Given the description of an element on the screen output the (x, y) to click on. 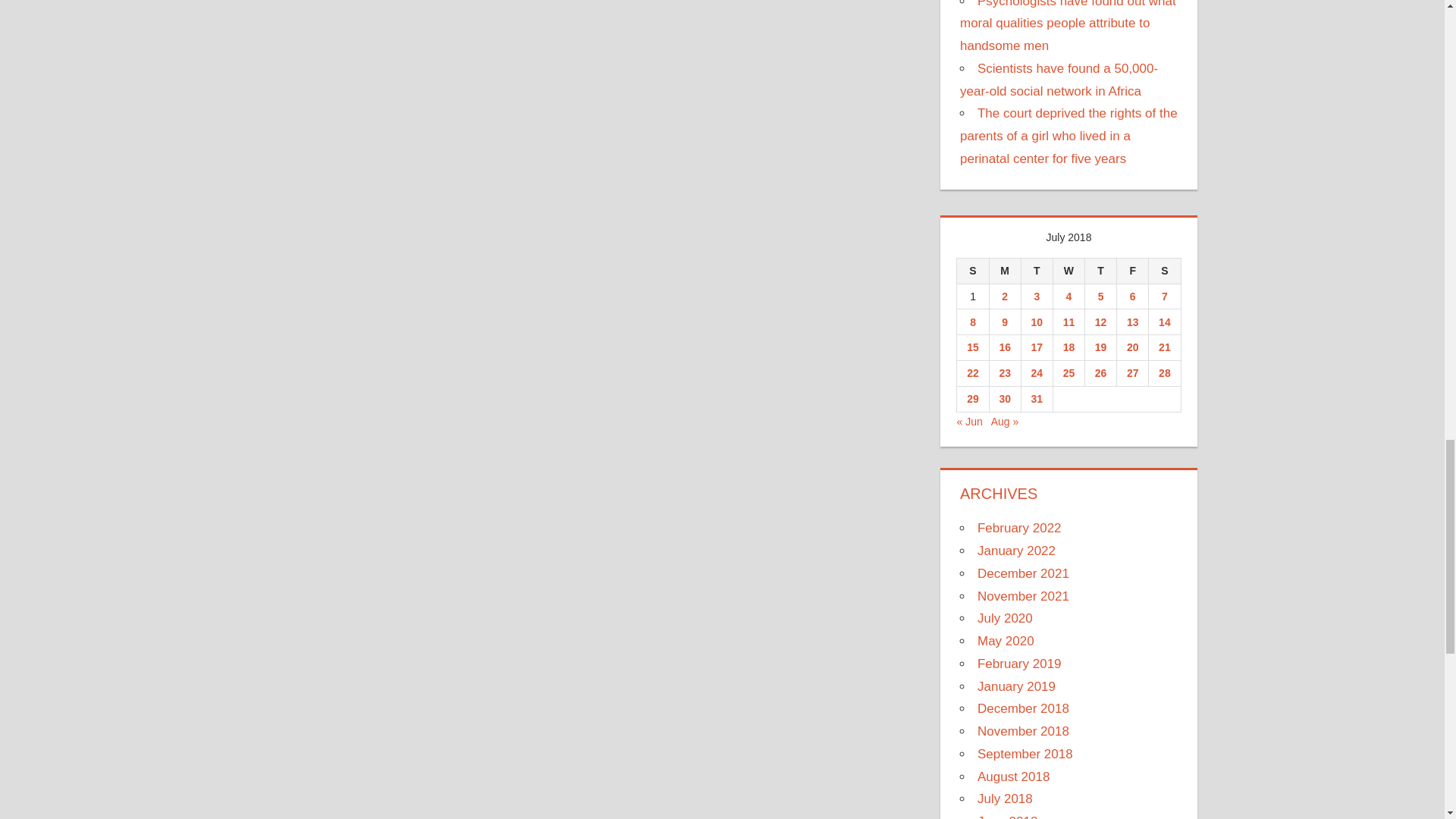
Thursday (1100, 270)
Friday (1132, 270)
Saturday (1164, 270)
Tuesday (1036, 270)
Sunday (972, 270)
Monday (1004, 270)
Wednesday (1068, 270)
